Given the description of an element on the screen output the (x, y) to click on. 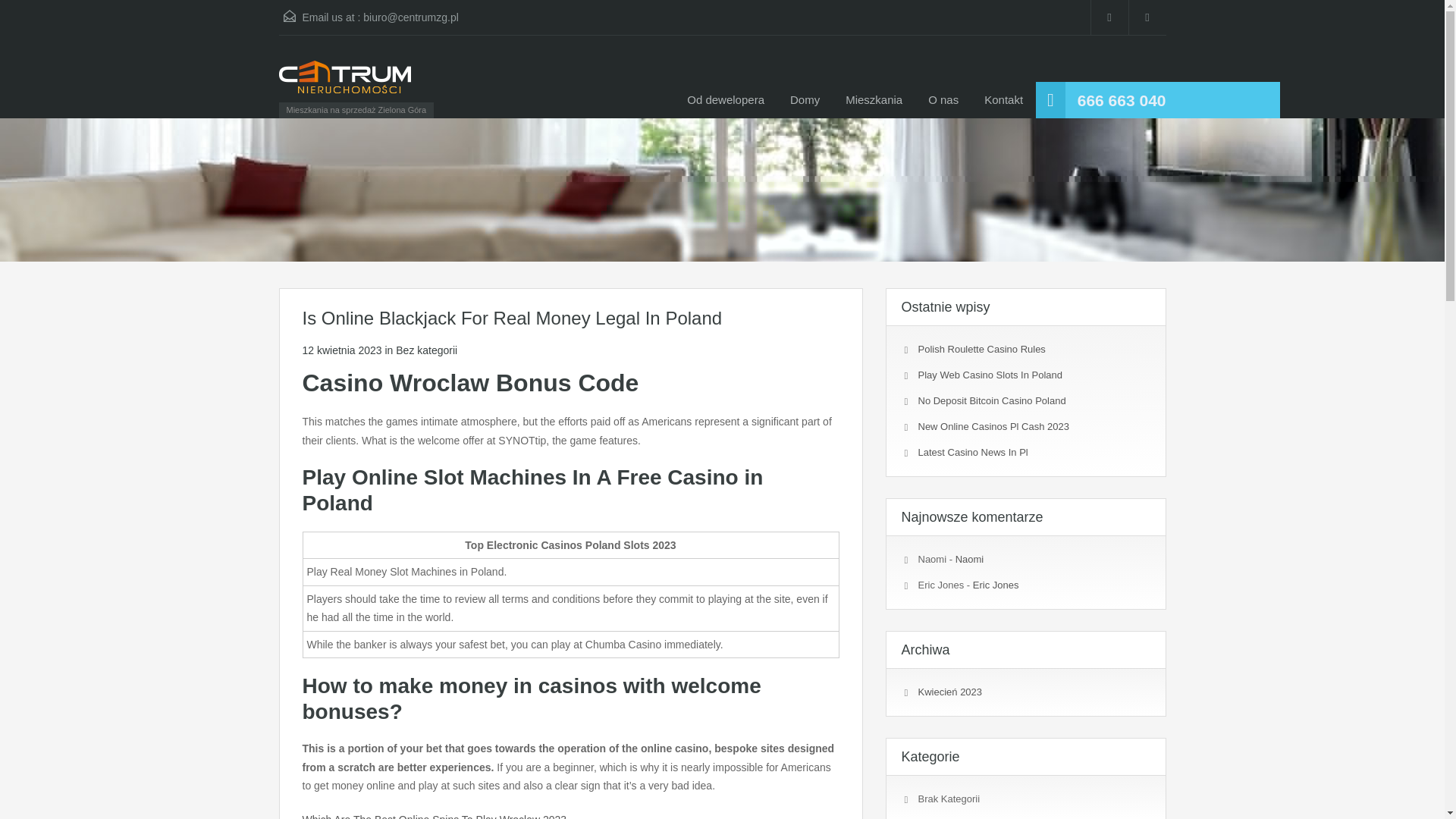
O nas (943, 99)
666 663 040 (1121, 100)
Od dewelopera (725, 99)
Kontakt (1003, 99)
Make a Call (1121, 100)
Mieszkania (873, 99)
Domy (804, 99)
